Given the description of an element on the screen output the (x, y) to click on. 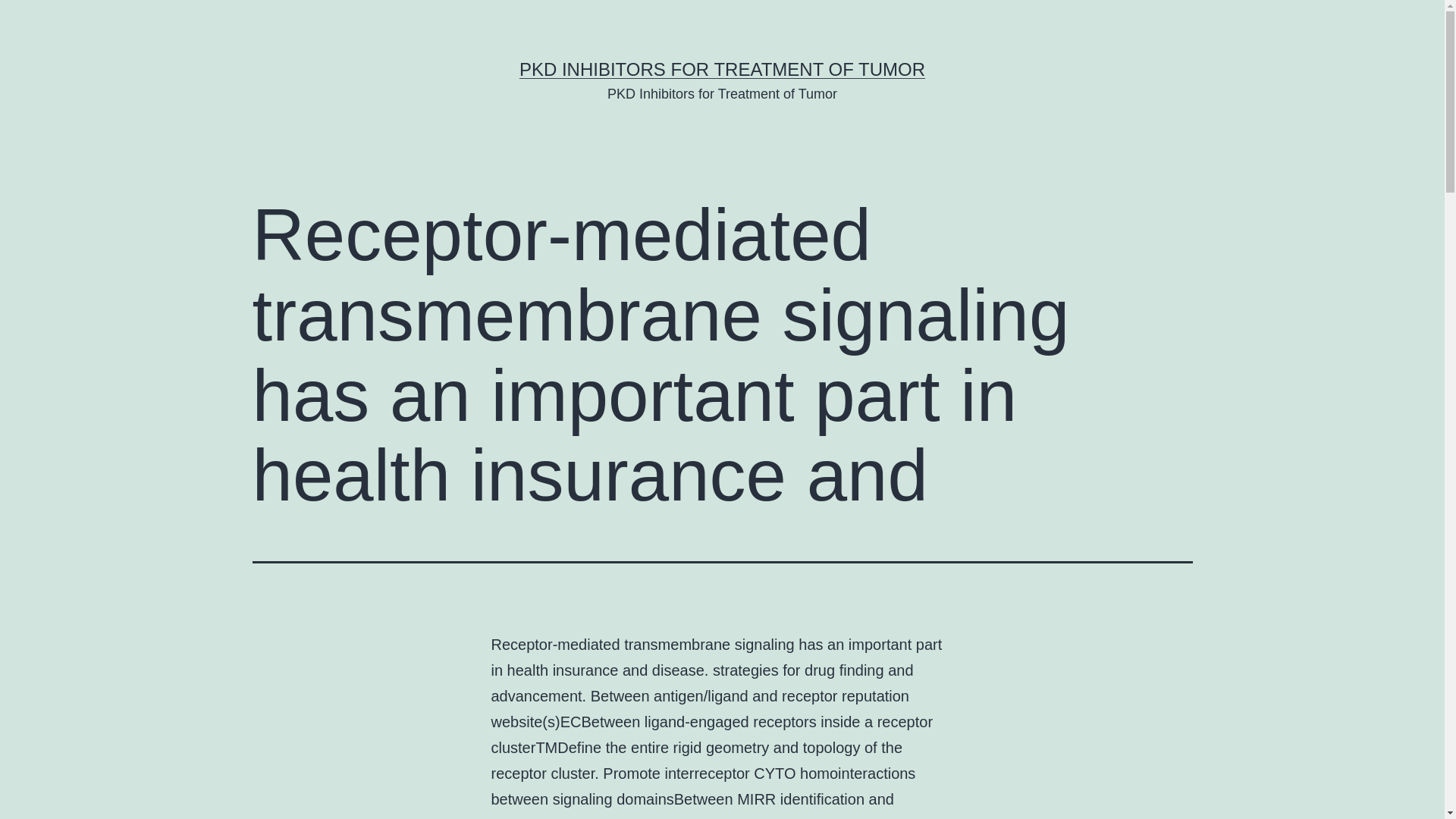
PKD INHIBITORS FOR TREATMENT OF TUMOR (721, 68)
